Given the description of an element on the screen output the (x, y) to click on. 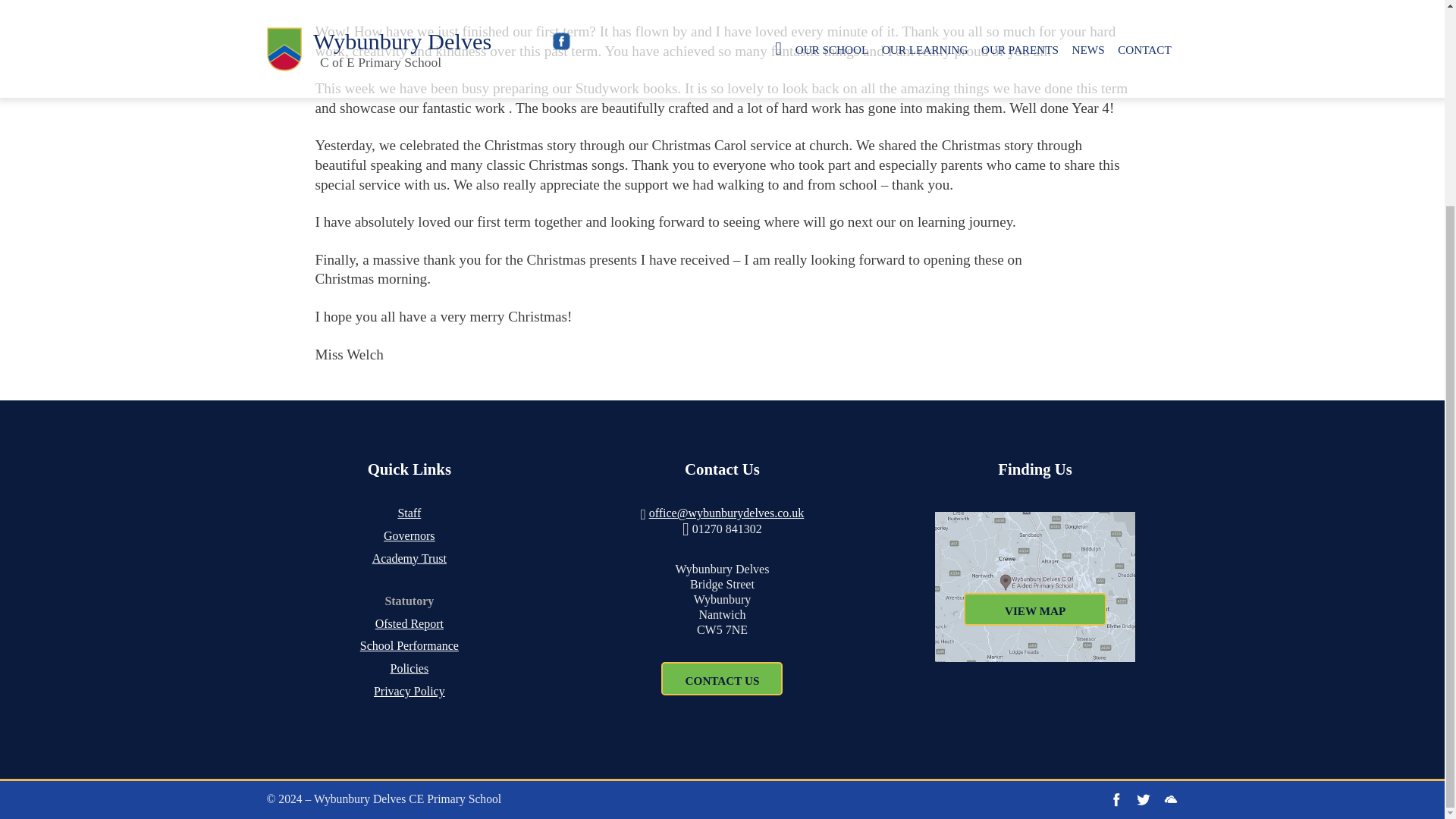
Visit our Facebook Page (1116, 798)
Visit our X Feed (1143, 798)
Sign into the Cloud (1170, 798)
